Given the description of an element on the screen output the (x, y) to click on. 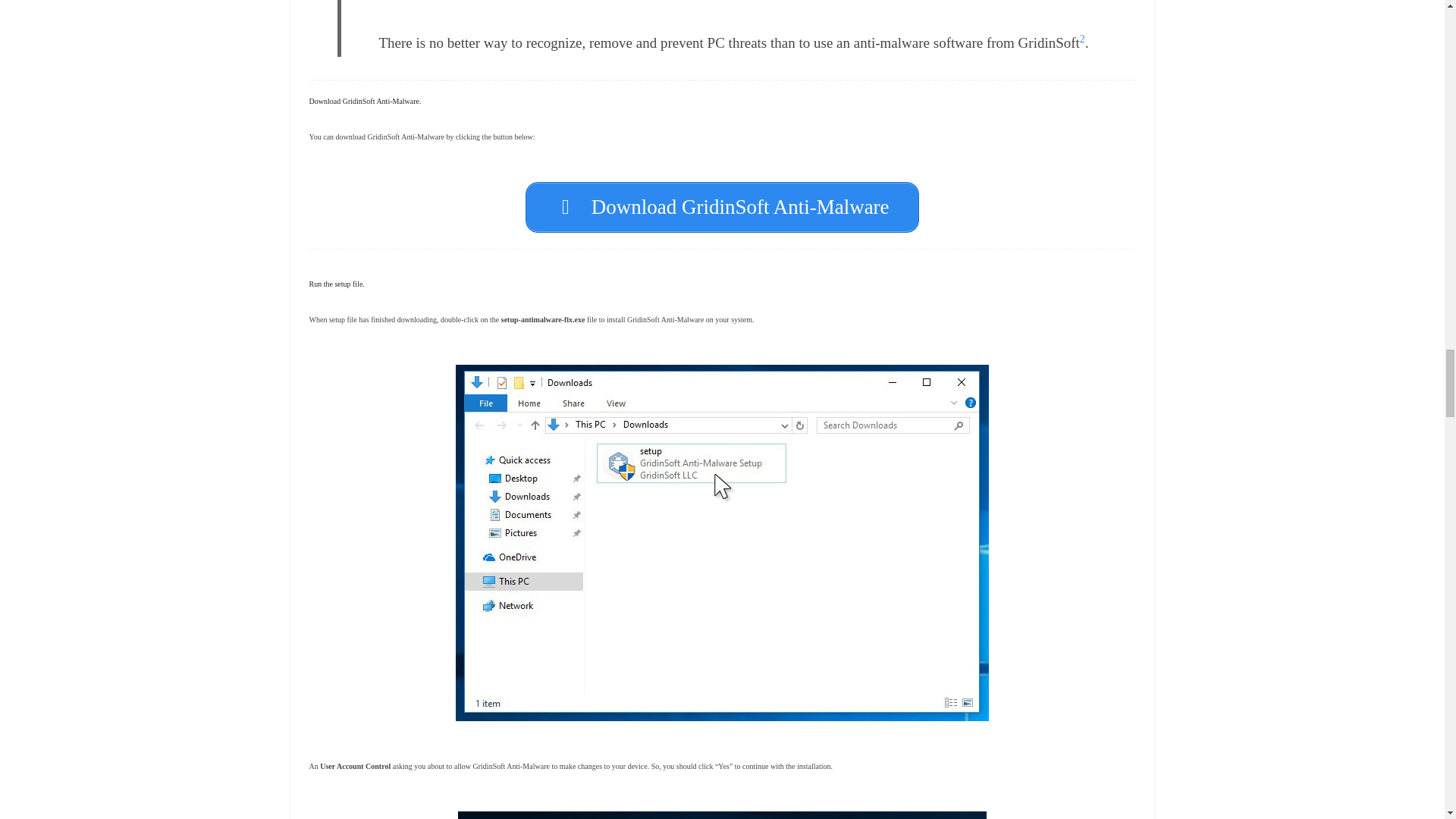
Download GridinSoft Anti-Malware (721, 206)
